Given the description of an element on the screen output the (x, y) to click on. 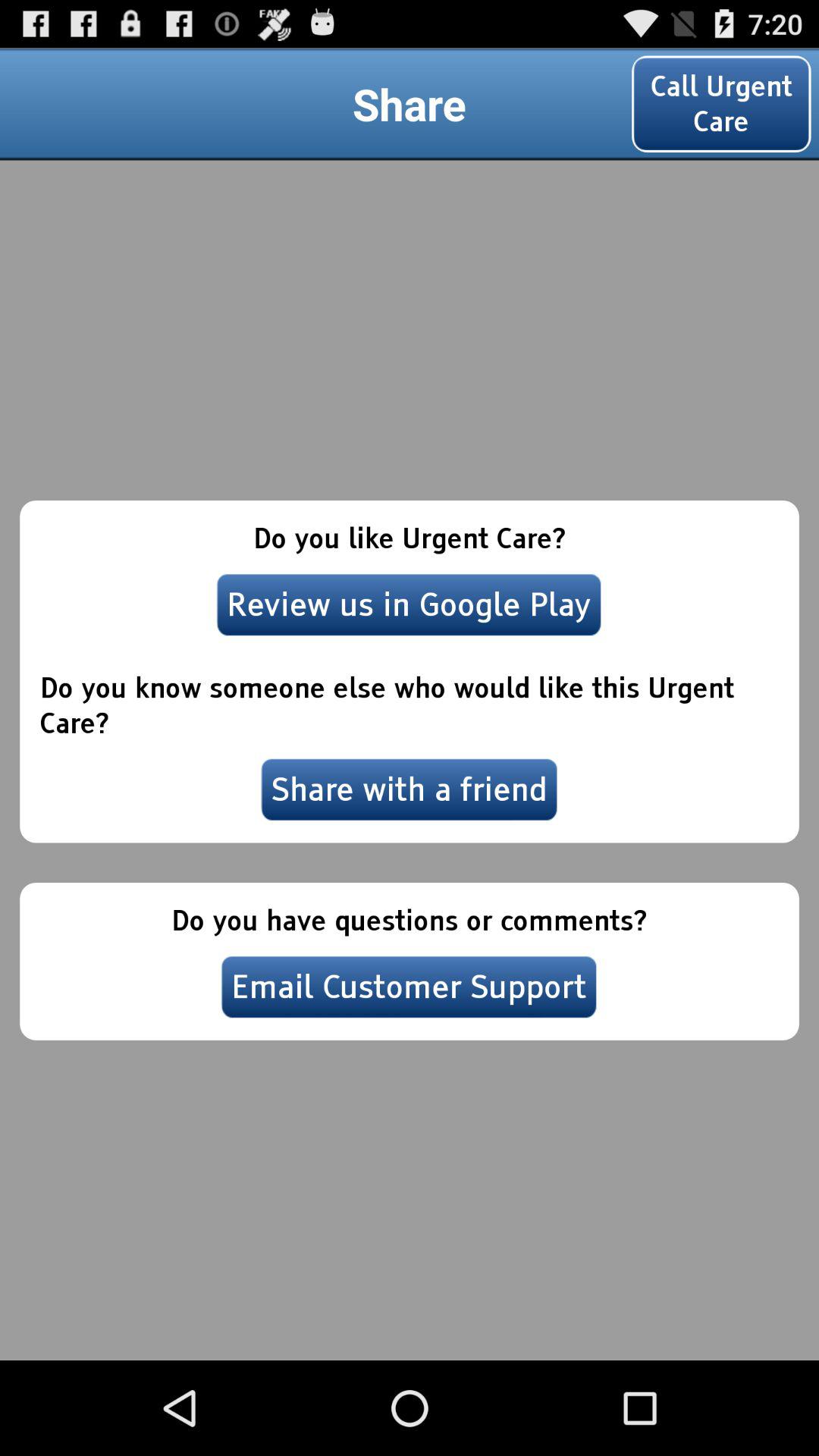
flip until the email customer support item (408, 986)
